Given the description of an element on the screen output the (x, y) to click on. 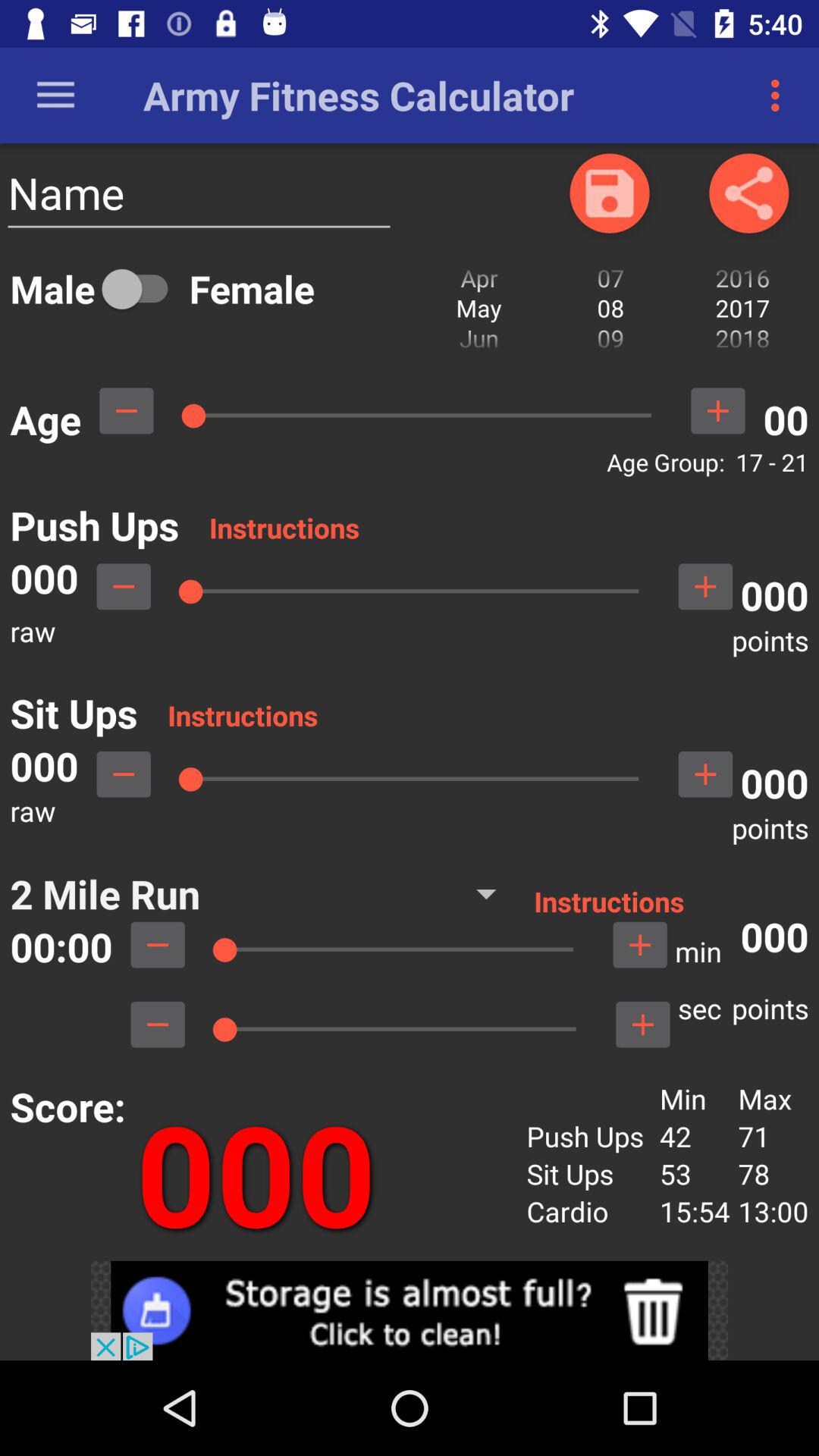
go to increase (718, 410)
